Given the description of an element on the screen output the (x, y) to click on. 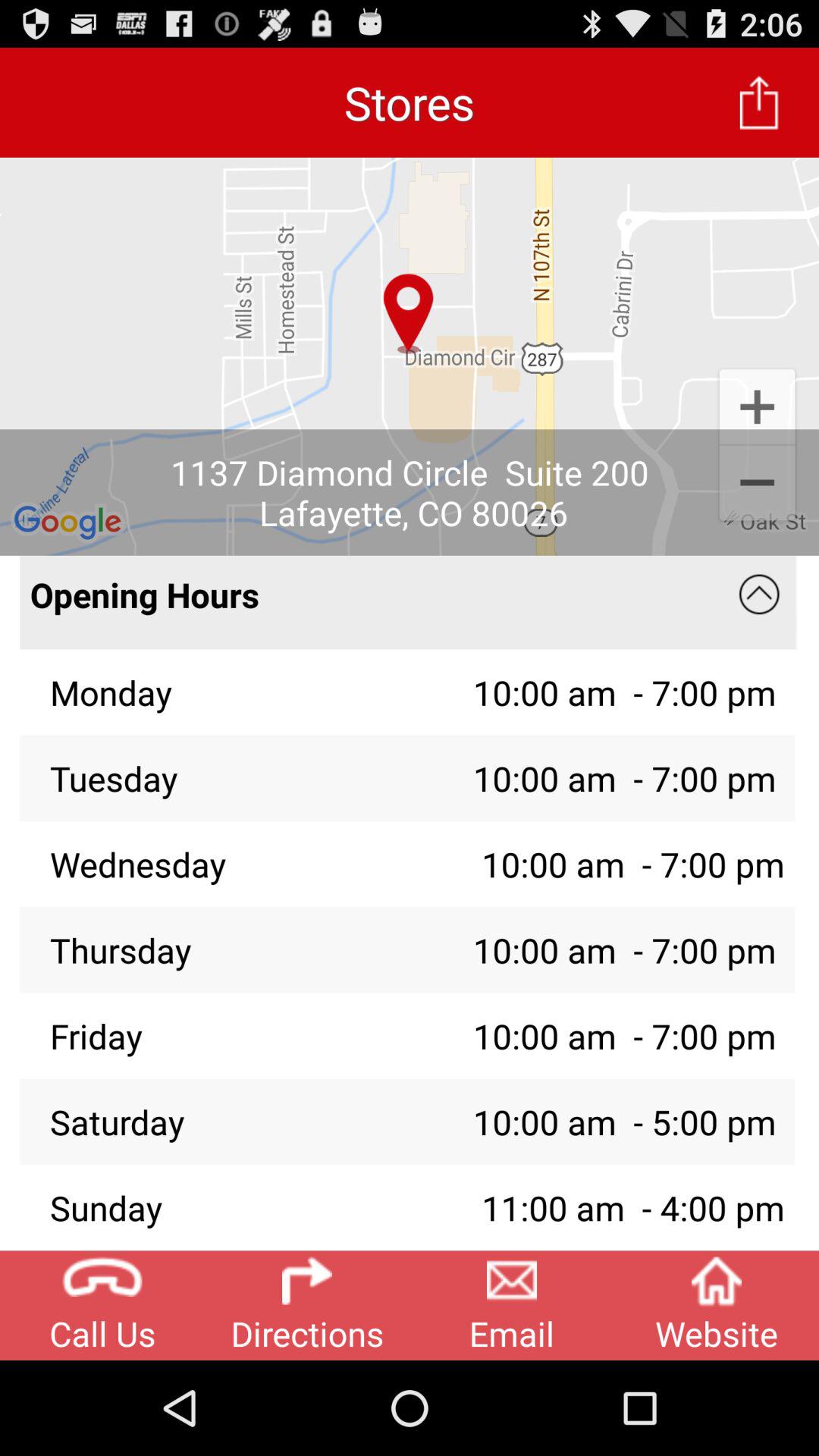
launch item below 11 00 am icon (716, 1305)
